Given the description of an element on the screen output the (x, y) to click on. 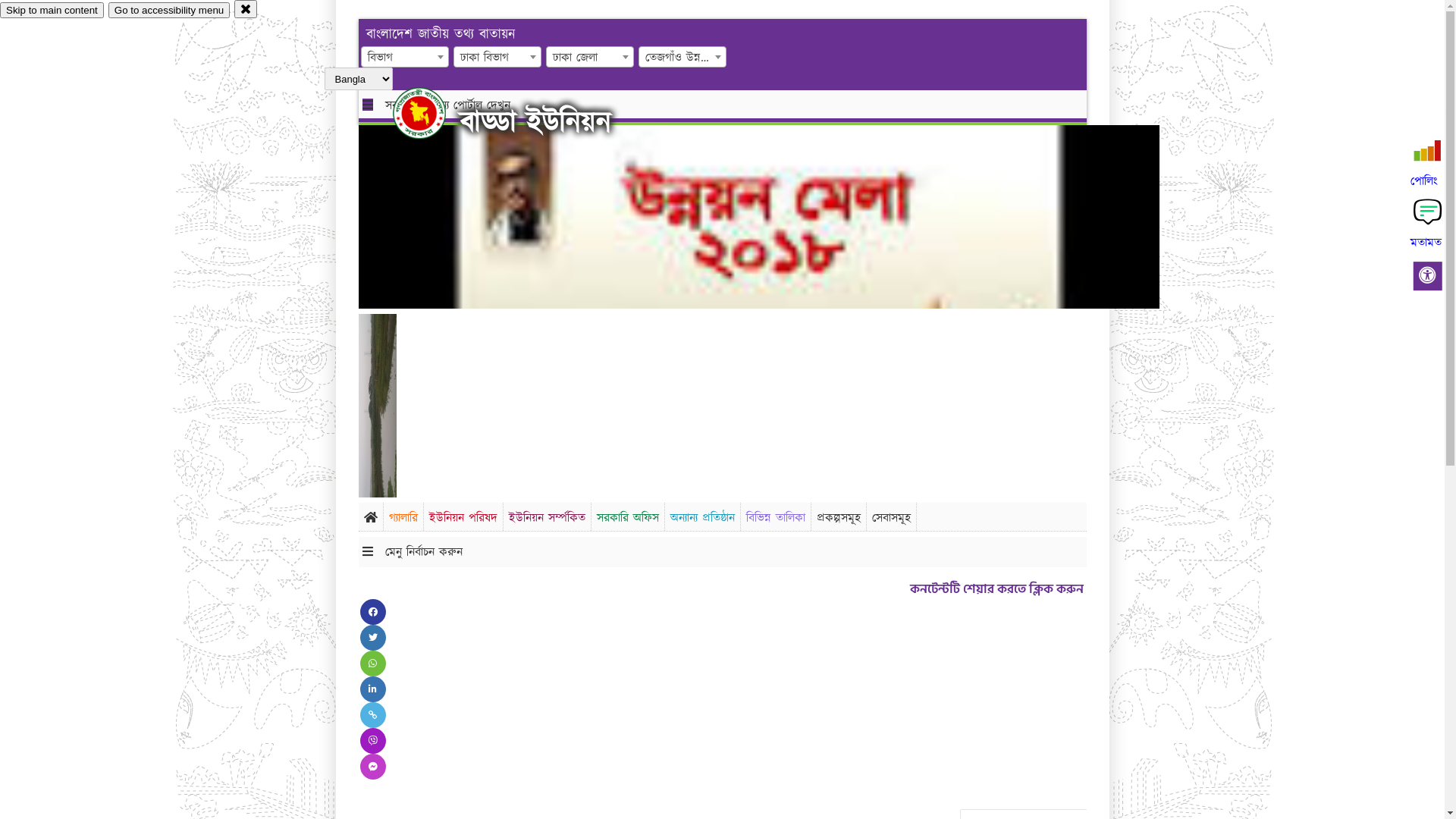
Skip to main content Element type: text (51, 10)

                
             Element type: hover (431, 112)
close Element type: hover (245, 9)
Go to accessibility menu Element type: text (168, 10)
